Given the description of an element on the screen output the (x, y) to click on. 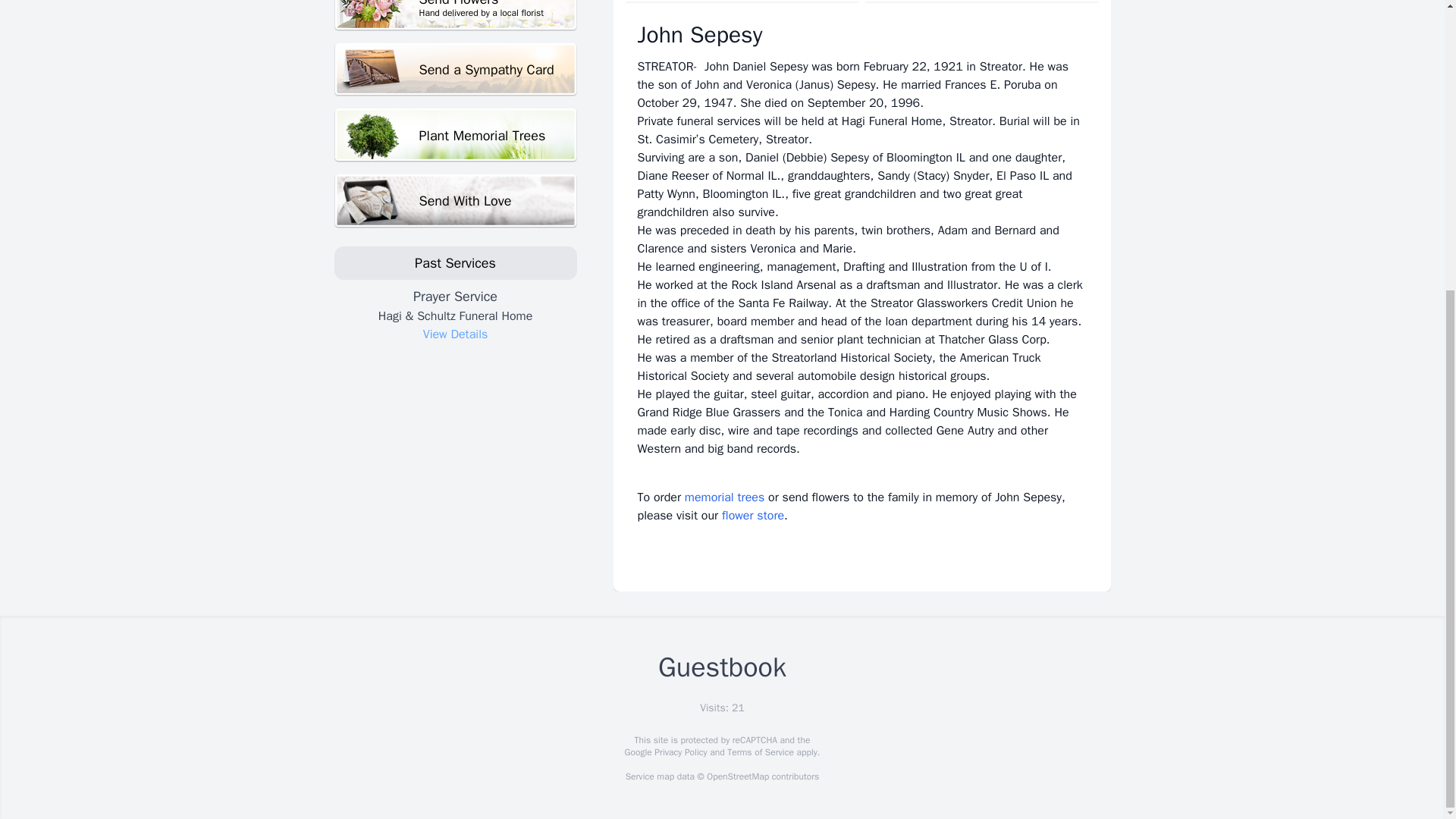
Obituary (741, 1)
Terms of Service (759, 752)
flower store (753, 515)
Service Schedule (980, 1)
Plant Memorial Trees (454, 135)
OpenStreetMap (737, 776)
Send With Love (454, 201)
Send a Sympathy Card (454, 70)
Privacy Policy (679, 752)
